Given the description of an element on the screen output the (x, y) to click on. 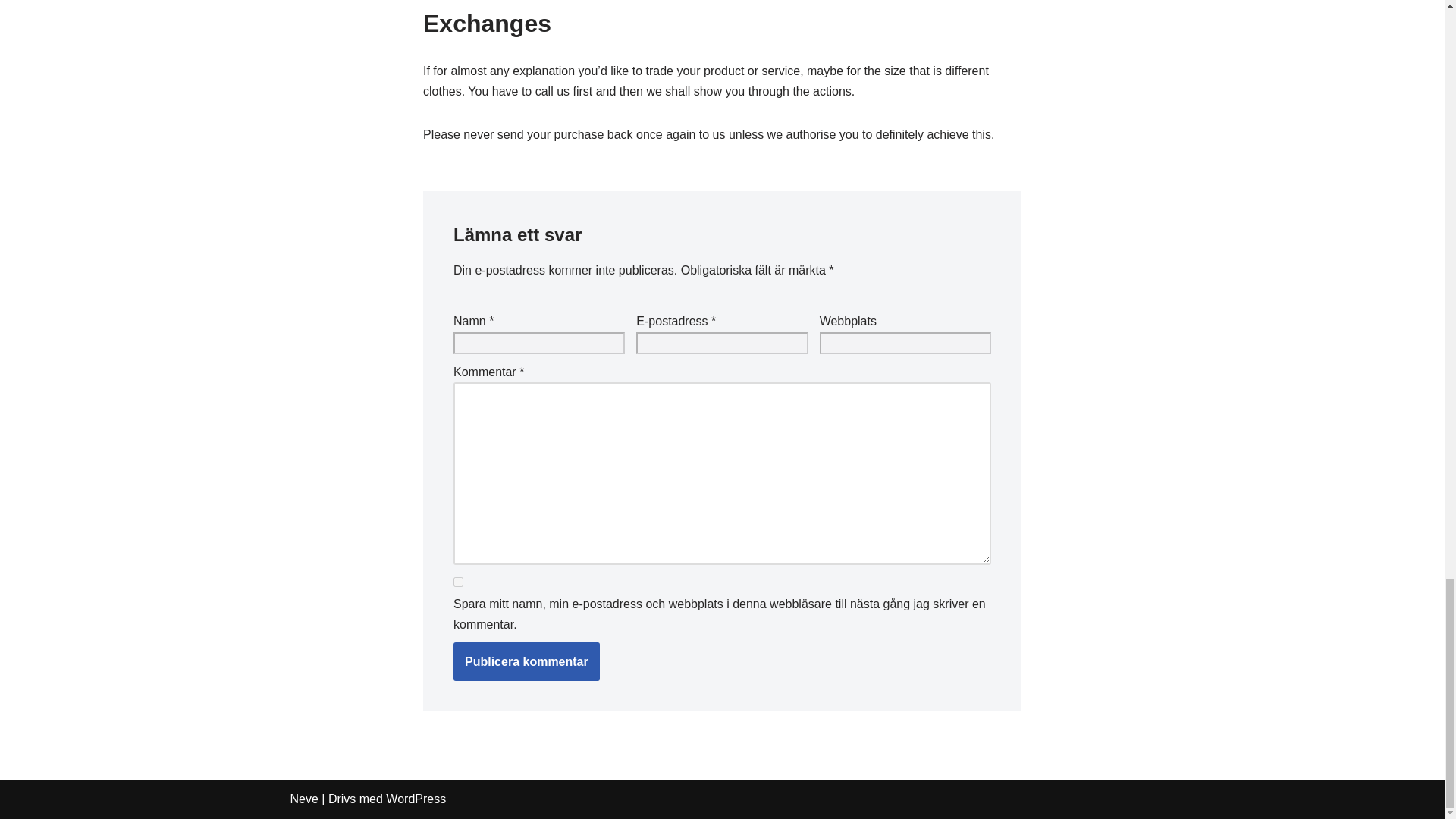
Publicera kommentar (525, 661)
yes (457, 582)
Neve (303, 798)
WordPress (415, 798)
Publicera kommentar (525, 661)
